Given the description of an element on the screen output the (x, y) to click on. 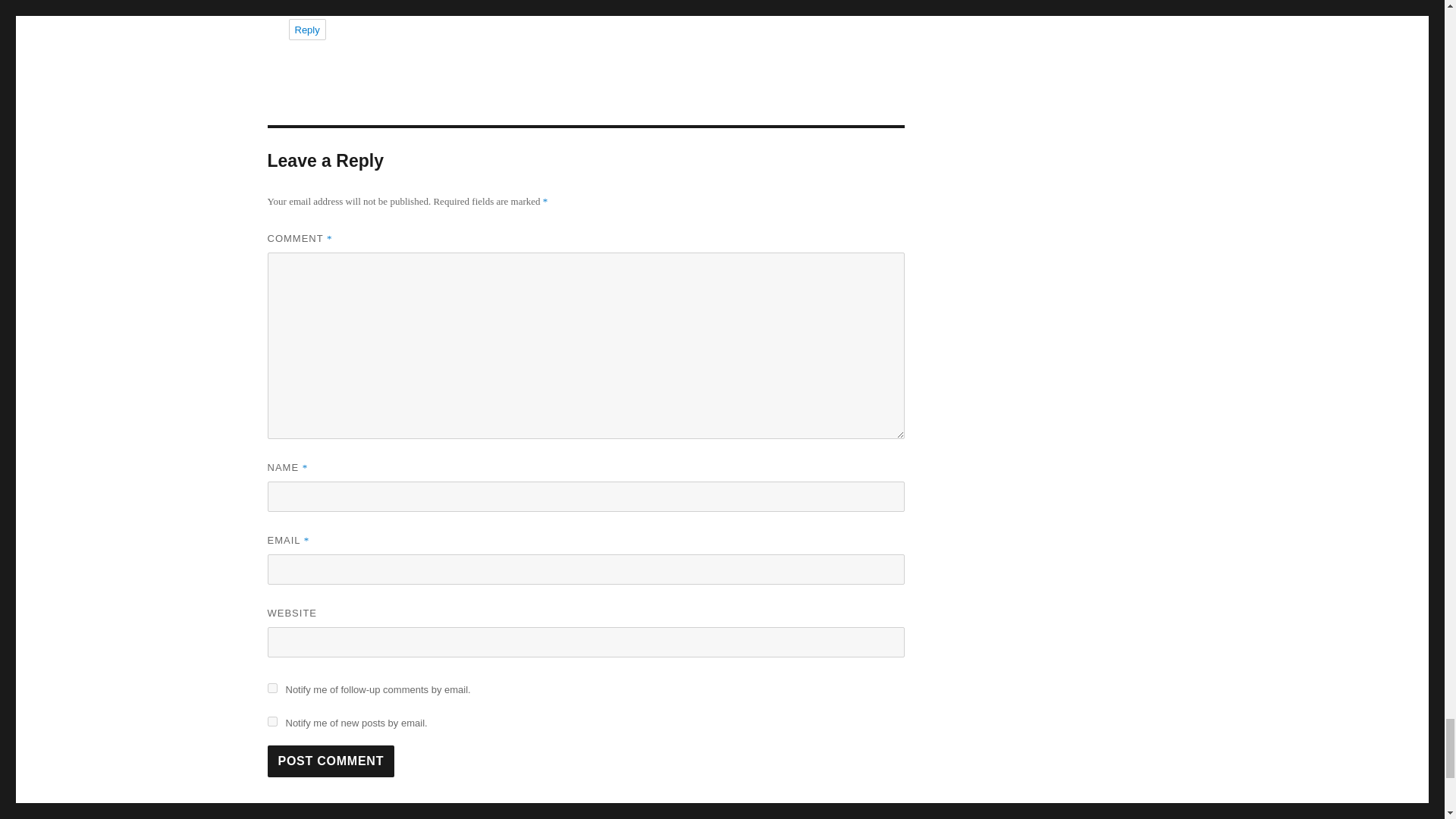
subscribe (271, 721)
subscribe (271, 687)
Post Comment (330, 761)
